Given the description of an element on the screen output the (x, y) to click on. 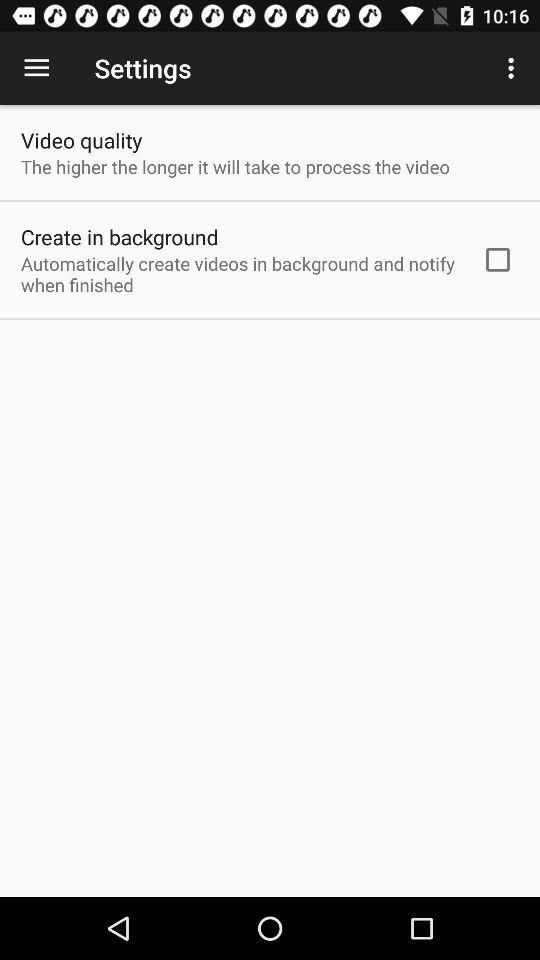
click automatically create videos icon (238, 274)
